Given the description of an element on the screen output the (x, y) to click on. 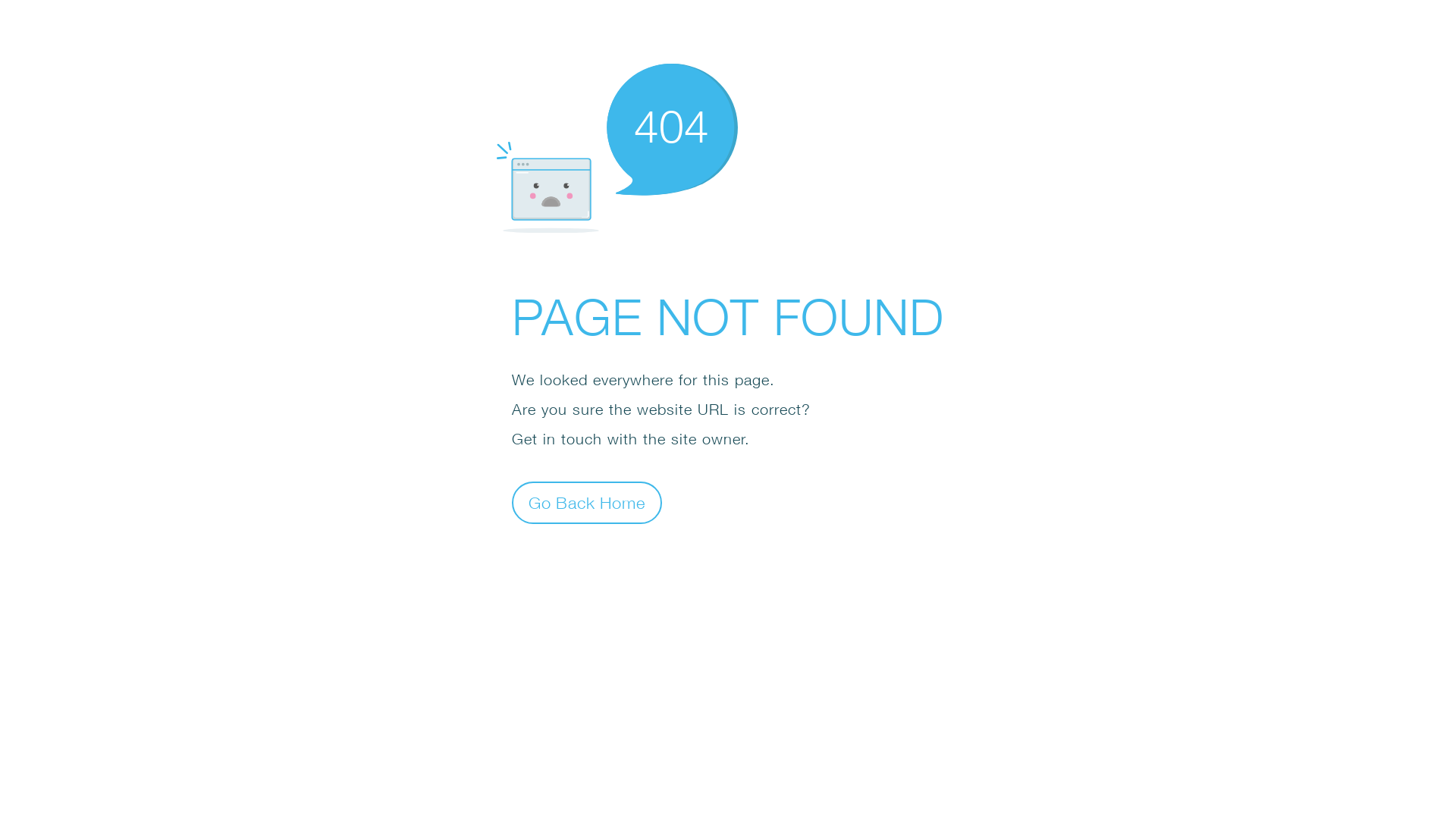
Go Back Home Element type: text (586, 502)
